Given the description of an element on the screen output the (x, y) to click on. 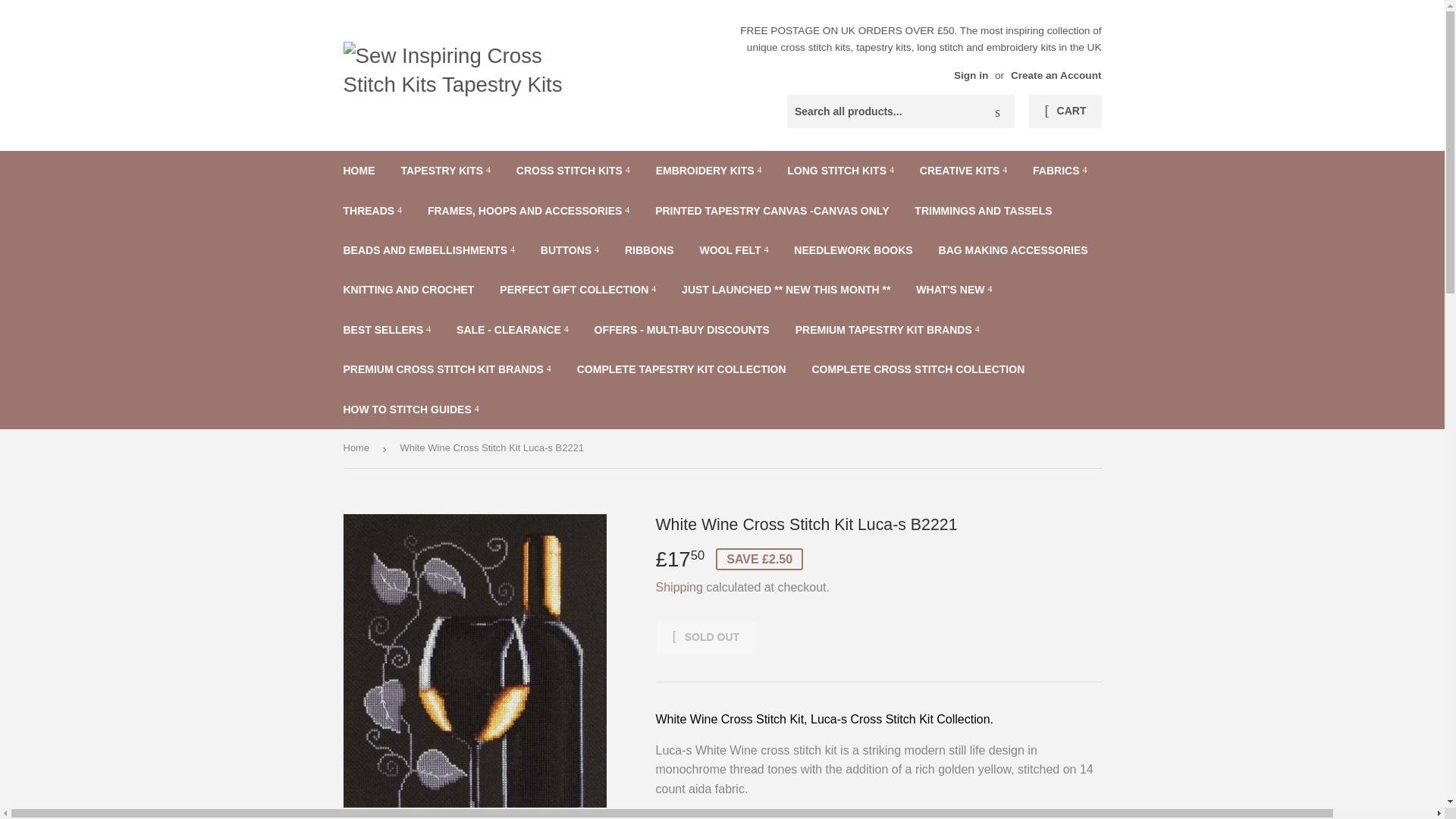
Search (996, 111)
Create an Account (1056, 75)
CART (1064, 111)
Sign in (970, 75)
